Given the description of an element on the screen output the (x, y) to click on. 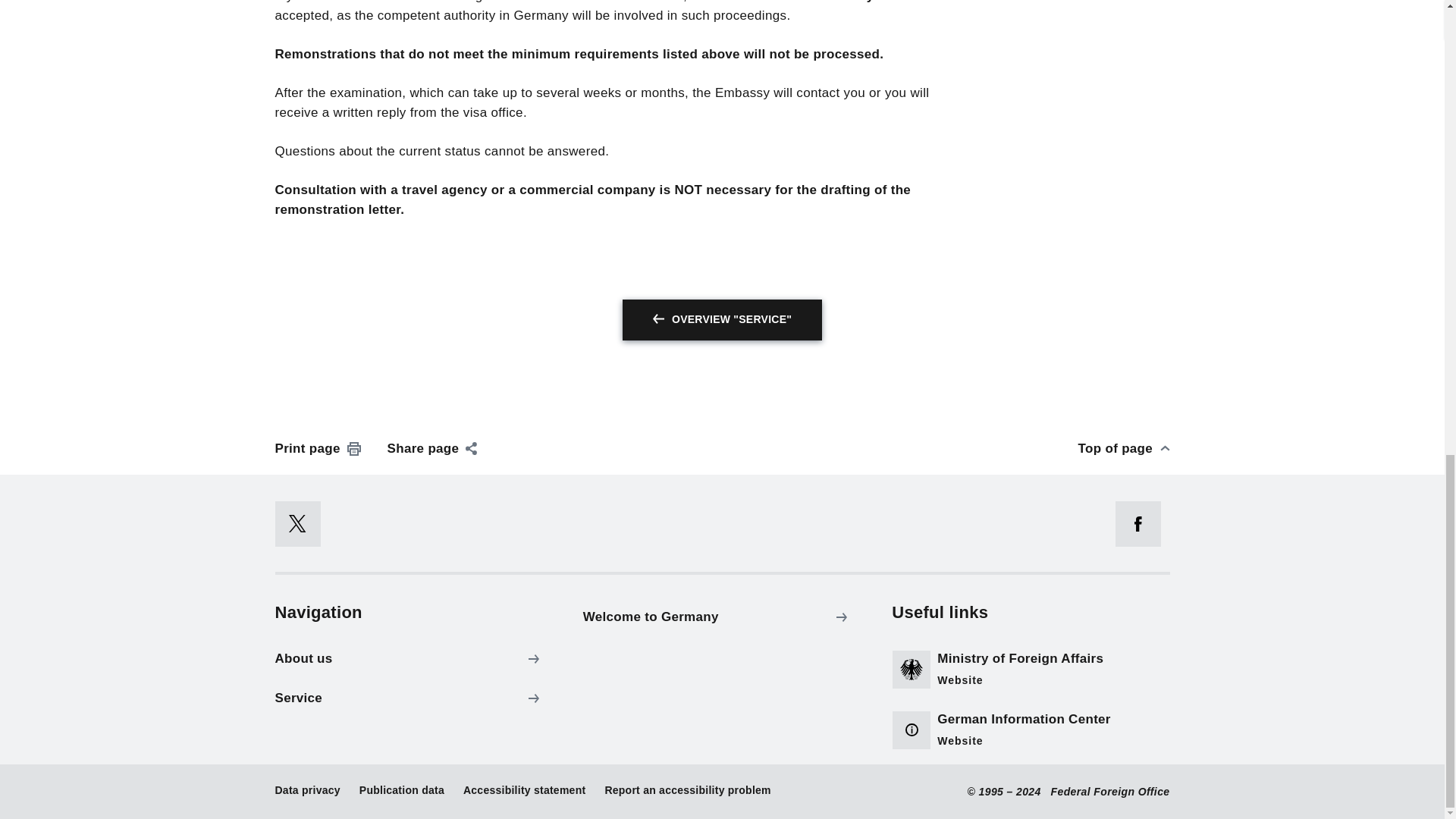
Top of page (1124, 448)
Overview Service (722, 319)
Print page (318, 448)
Service (410, 698)
OVERVIEW "SERVICE" (722, 319)
About us (410, 658)
